Given the description of an element on the screen output the (x, y) to click on. 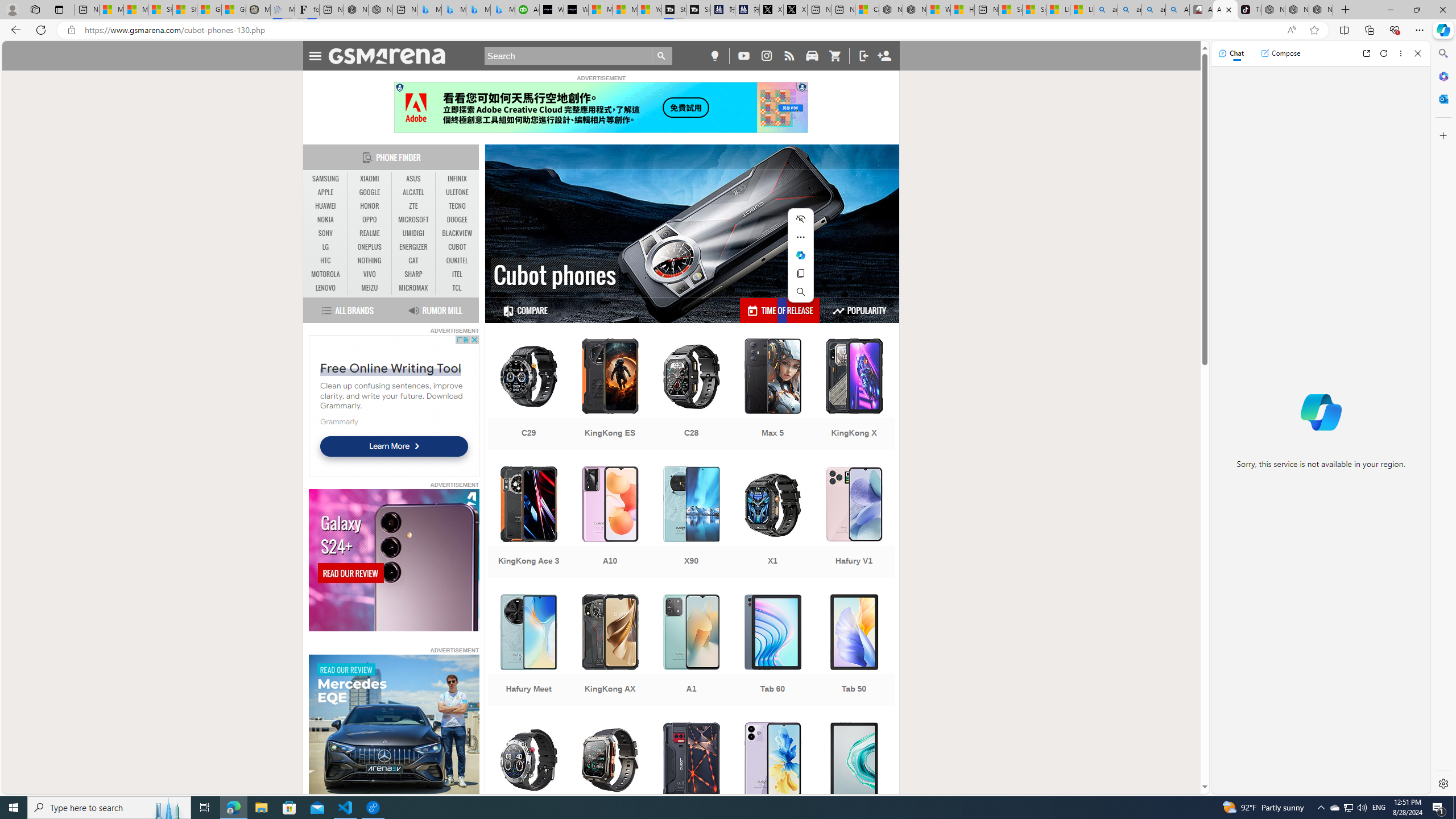
ENERGIZER (413, 246)
CAT (413, 260)
NOKIA (325, 219)
C28 (691, 395)
INFINIX (457, 178)
Customize (1442, 135)
SHARP (413, 273)
KingKong ES (609, 395)
